Given the description of an element on the screen output the (x, y) to click on. 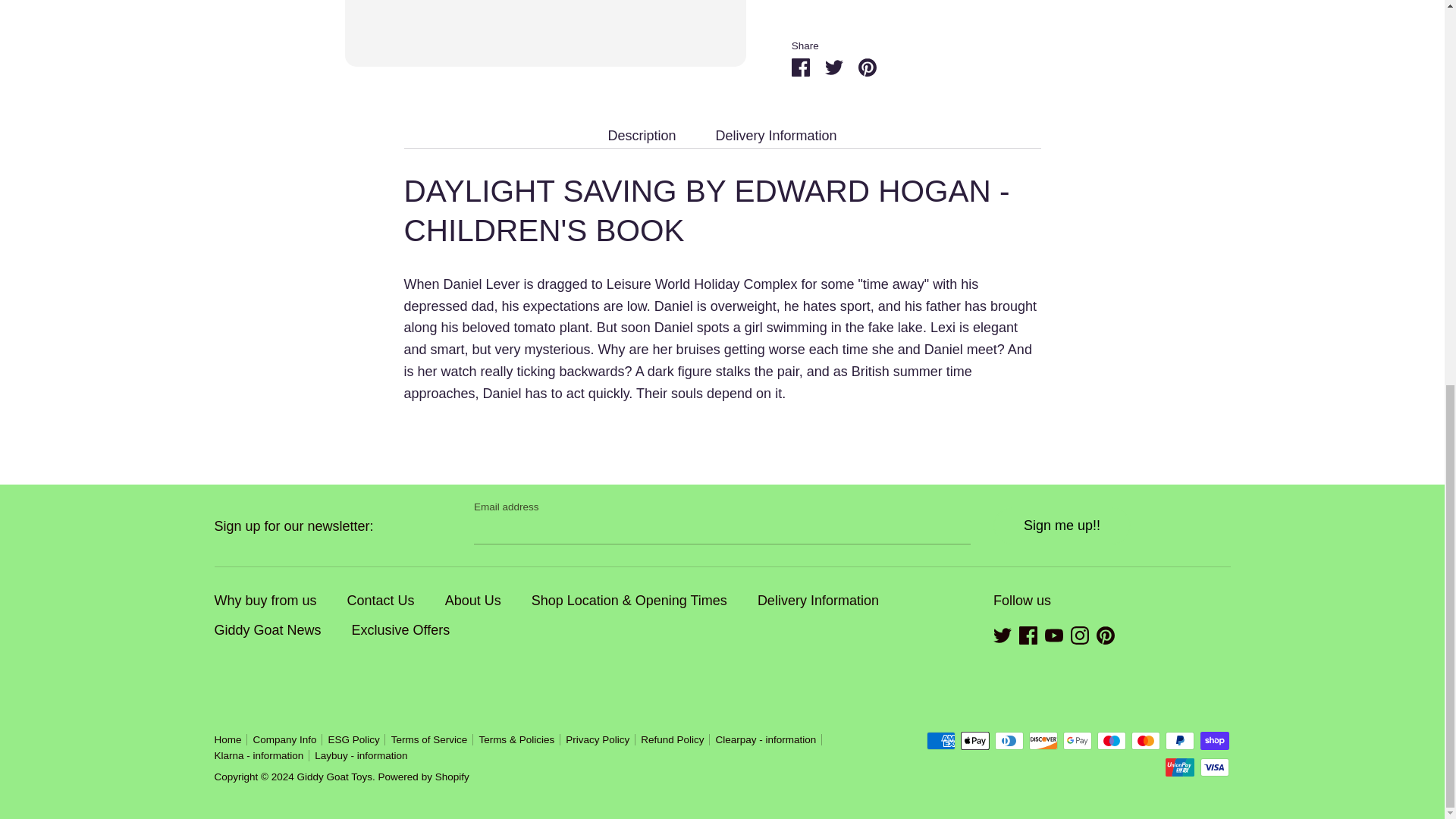
Apple Pay (975, 741)
American Express (940, 741)
Diners Club (1008, 741)
Discover (1043, 741)
